Given the description of an element on the screen output the (x, y) to click on. 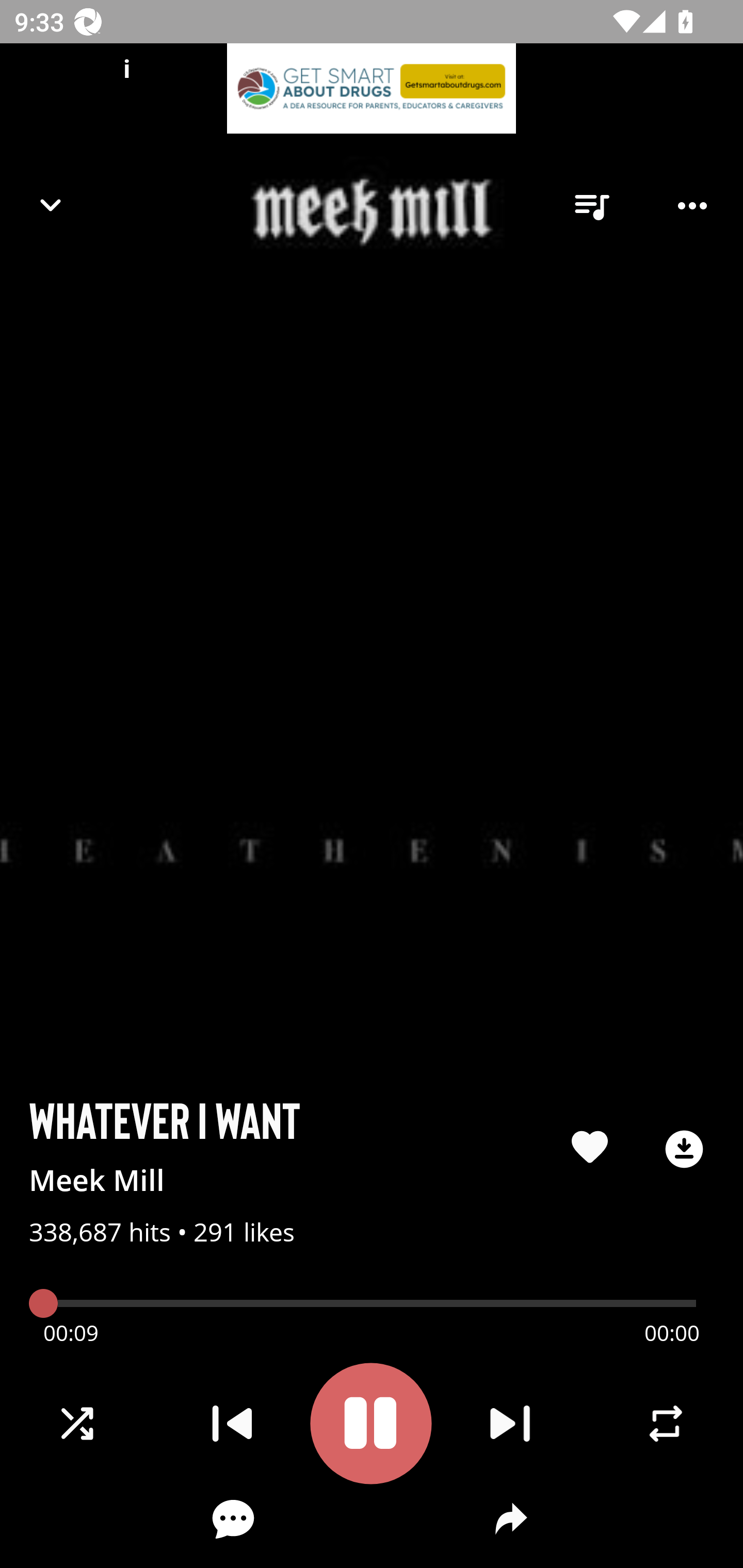
Navigate up (50, 205)
queue (590, 206)
Player options (692, 206)
